Given the description of an element on the screen output the (x, y) to click on. 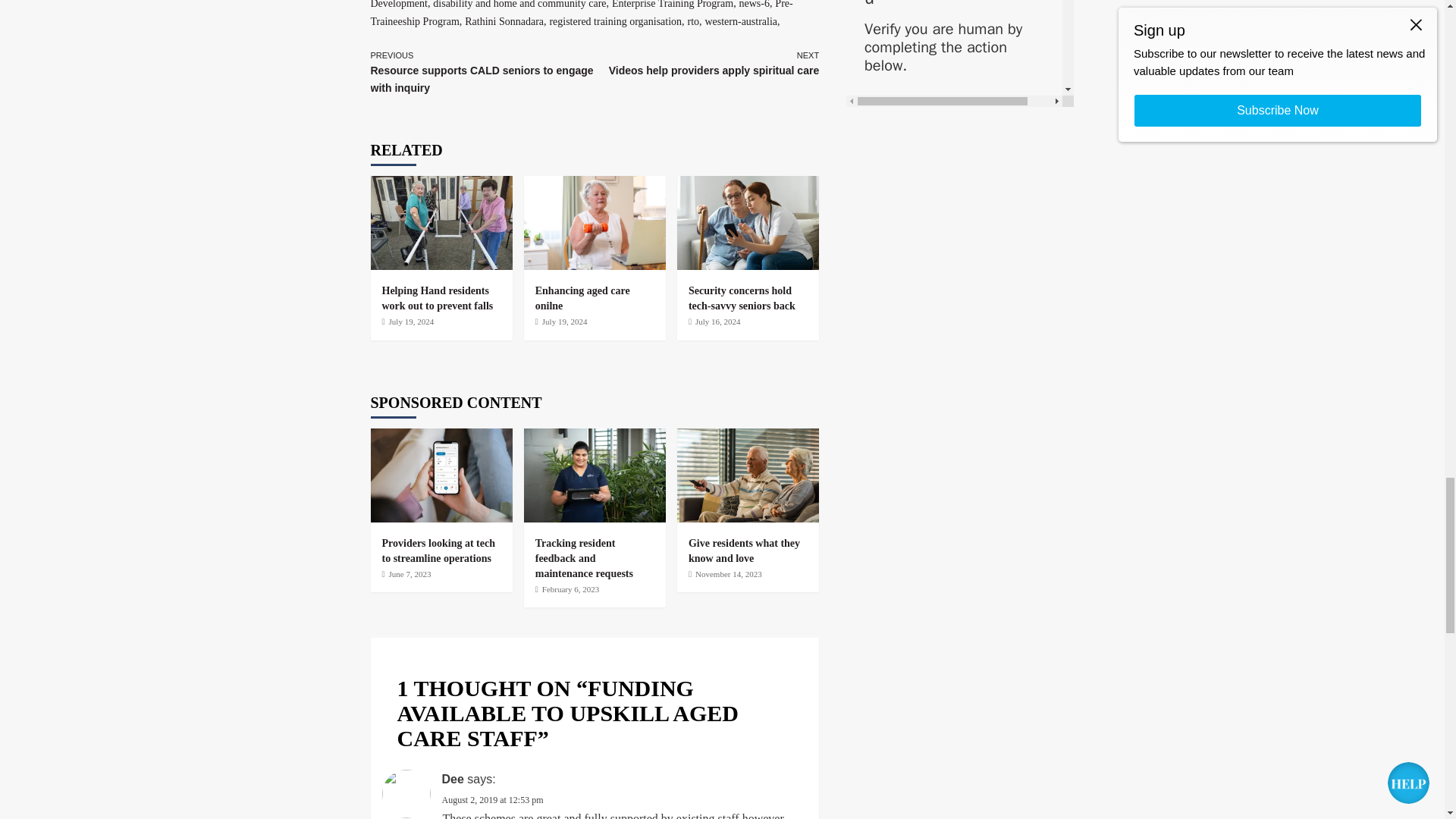
Enterprise Training Program, (673, 4)
Pre-Traineeship Program, (580, 13)
rto, (694, 20)
registered training organisation, (616, 20)
Rathini Sonnadara, (505, 20)
disability and home and community care, (520, 4)
   Vote    (960, 56)
Department of Training and Workforce Development, (571, 4)
western-australia, (741, 20)
news-6, (756, 4)
